Given the description of an element on the screen output the (x, y) to click on. 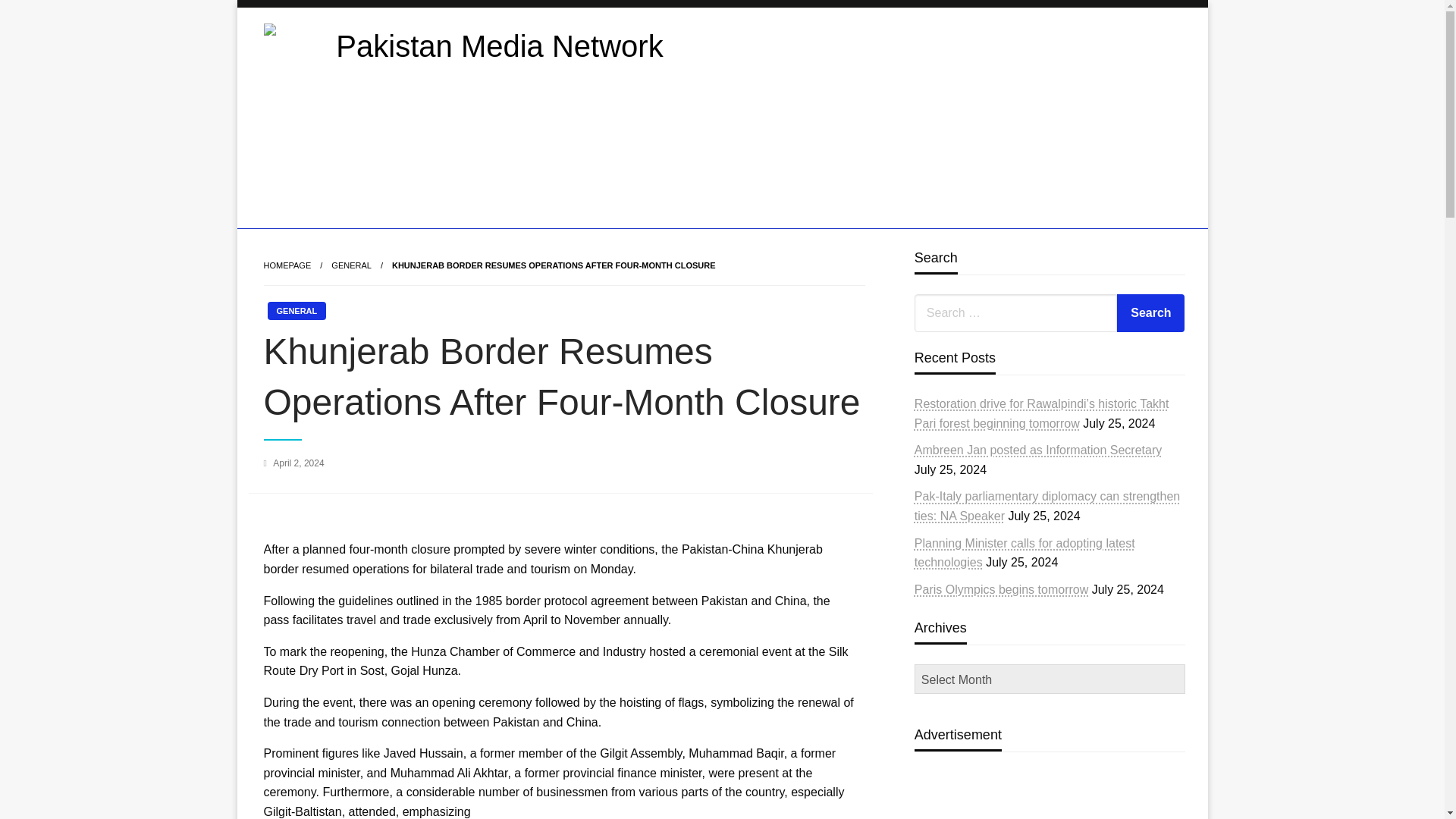
HOMEPAGE (287, 265)
Pakistan Media Network (427, 240)
General (351, 265)
GENERAL (296, 311)
Search (1150, 313)
April 2, 2024 (298, 462)
Search (1150, 313)
GENERAL (351, 265)
Khunjerab Border Resumes Operations After Four-Month Closure (553, 265)
Homepage (287, 265)
